Given the description of an element on the screen output the (x, y) to click on. 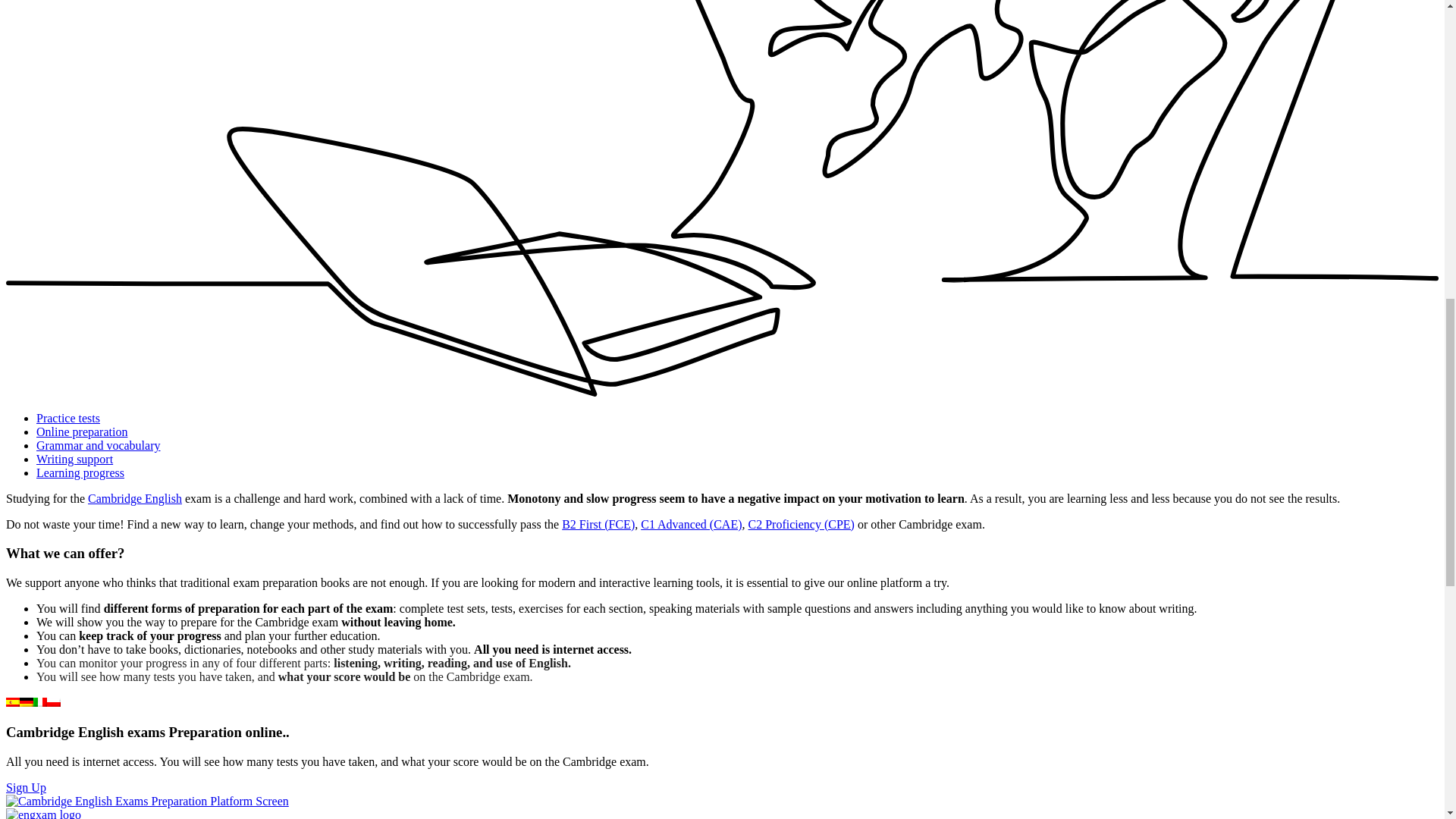
Writing support (74, 459)
Cambridge English (134, 498)
Learning progress (79, 472)
Italiano (39, 701)
Deutsch (26, 701)
Grammar and vocabulary (98, 445)
polski (53, 701)
Practice tests (68, 418)
Online preparation (82, 431)
